Given the description of an element on the screen output the (x, y) to click on. 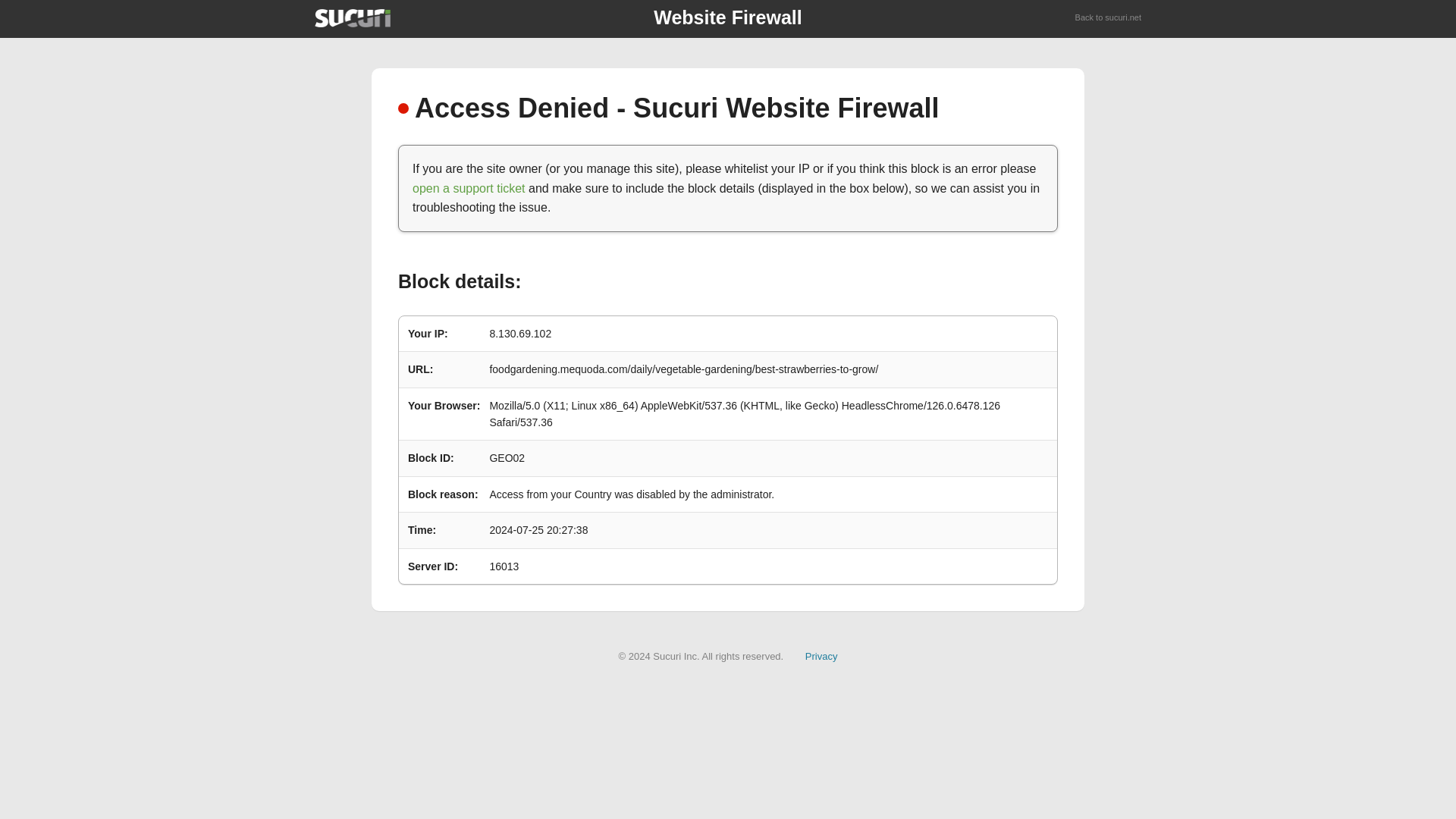
open a support ticket (468, 187)
Privacy (821, 655)
Back to sucuri.net (1108, 18)
